Given the description of an element on the screen output the (x, y) to click on. 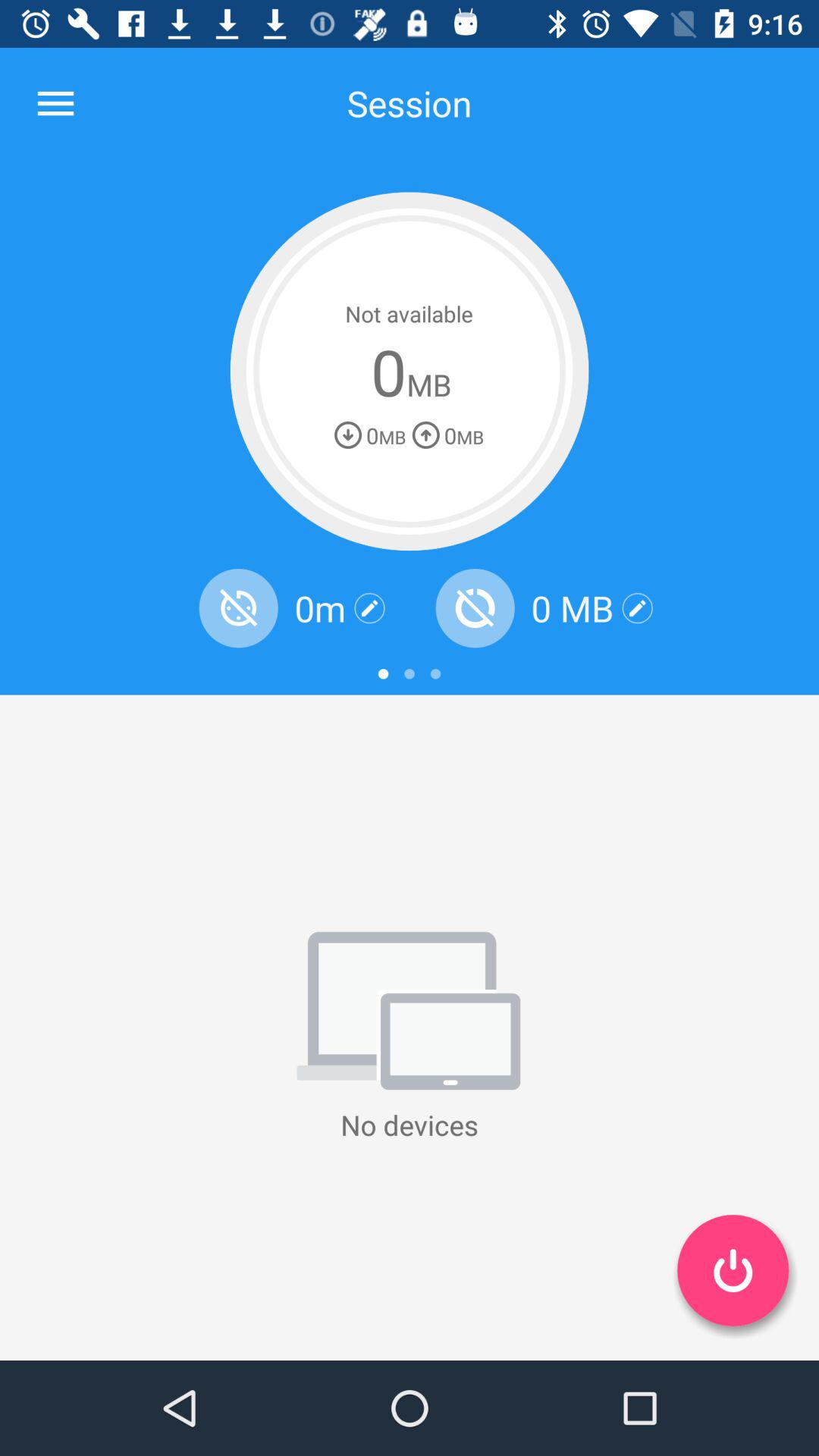
edit information (369, 608)
